Given the description of an element on the screen output the (x, y) to click on. 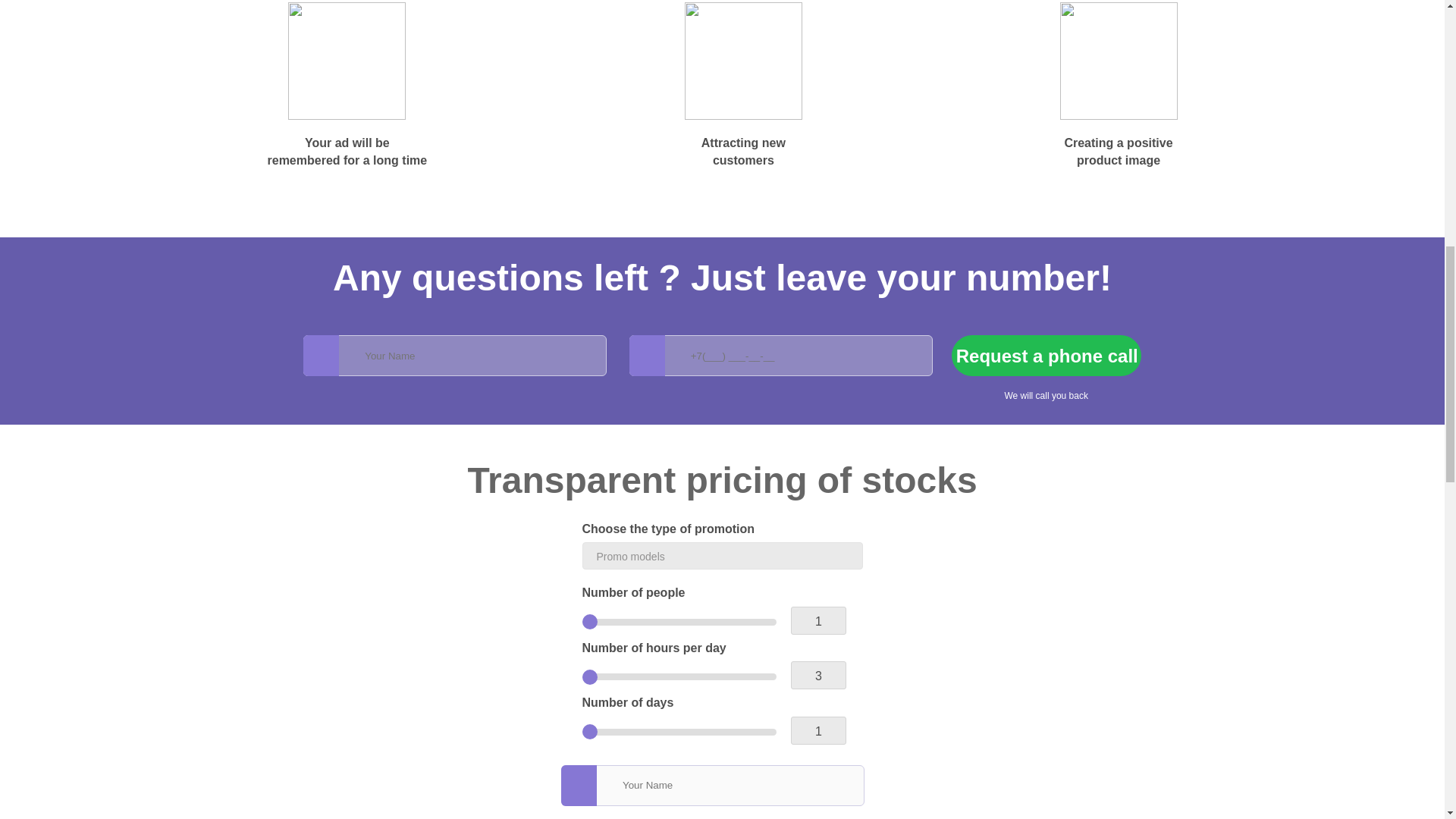
3 (679, 676)
Request a phone call (1046, 354)
Your Name (454, 354)
1 (679, 622)
1 (679, 731)
Your Name (712, 784)
